Given the description of an element on the screen output the (x, y) to click on. 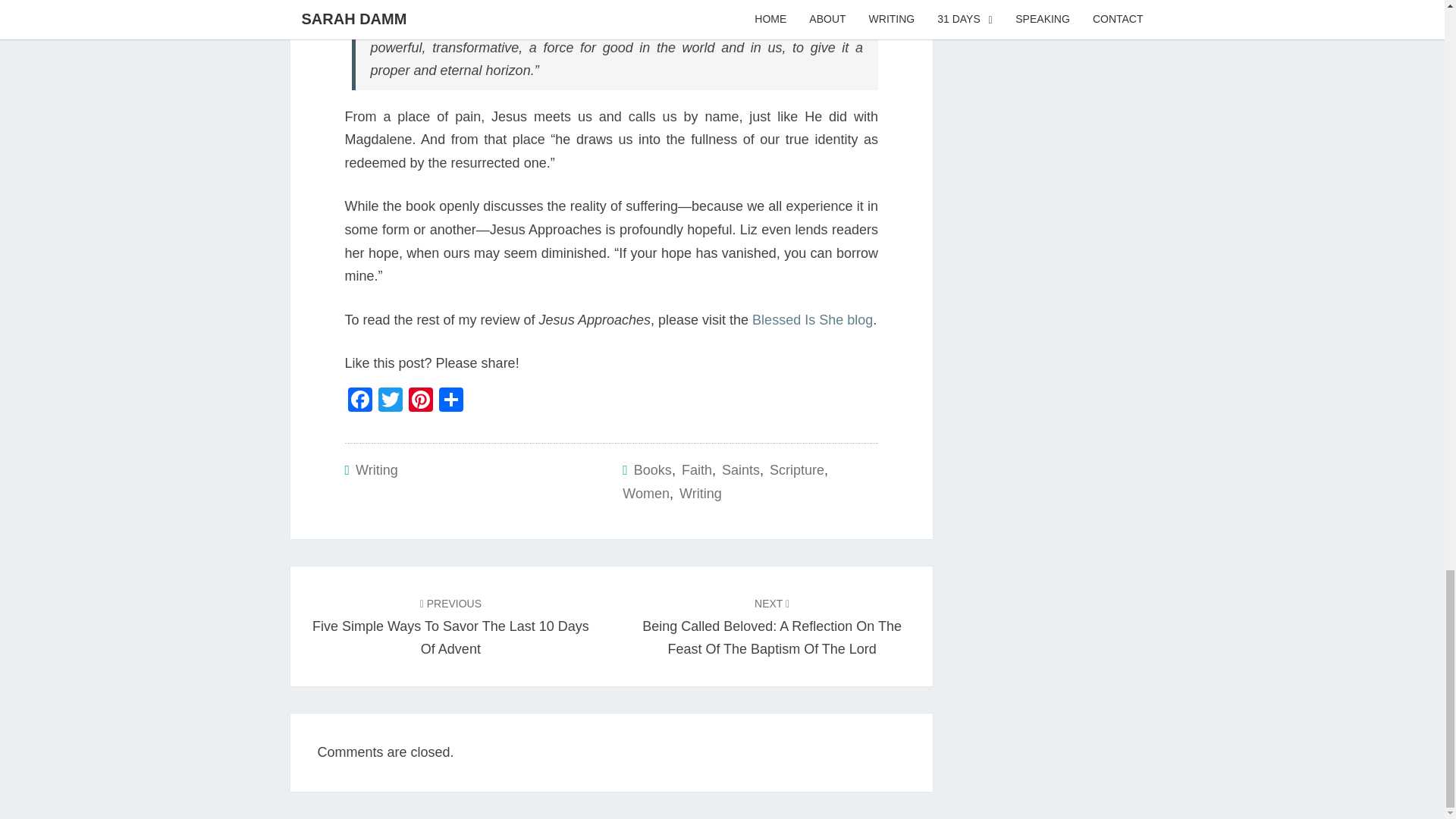
Books (652, 469)
Blessed Is She blog (812, 319)
Saints (741, 469)
Pinterest (419, 401)
Facebook (358, 401)
Scripture (797, 469)
Faith (696, 469)
Writing (376, 469)
